Given the description of an element on the screen output the (x, y) to click on. 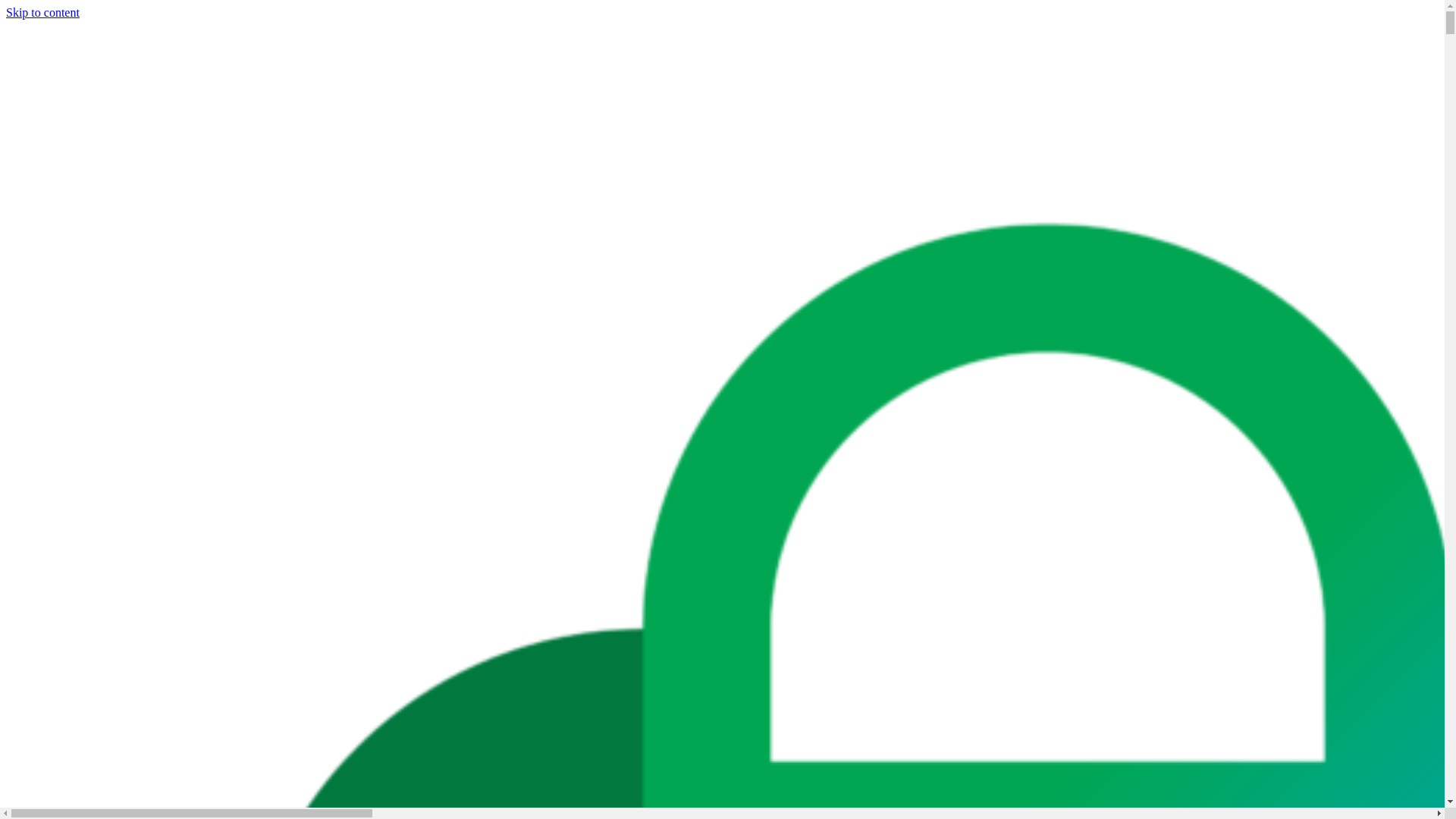
Skip to content Element type: text (42, 12)
Read more about our promise to you. Element type: text (574, 34)
